Given the description of an element on the screen output the (x, y) to click on. 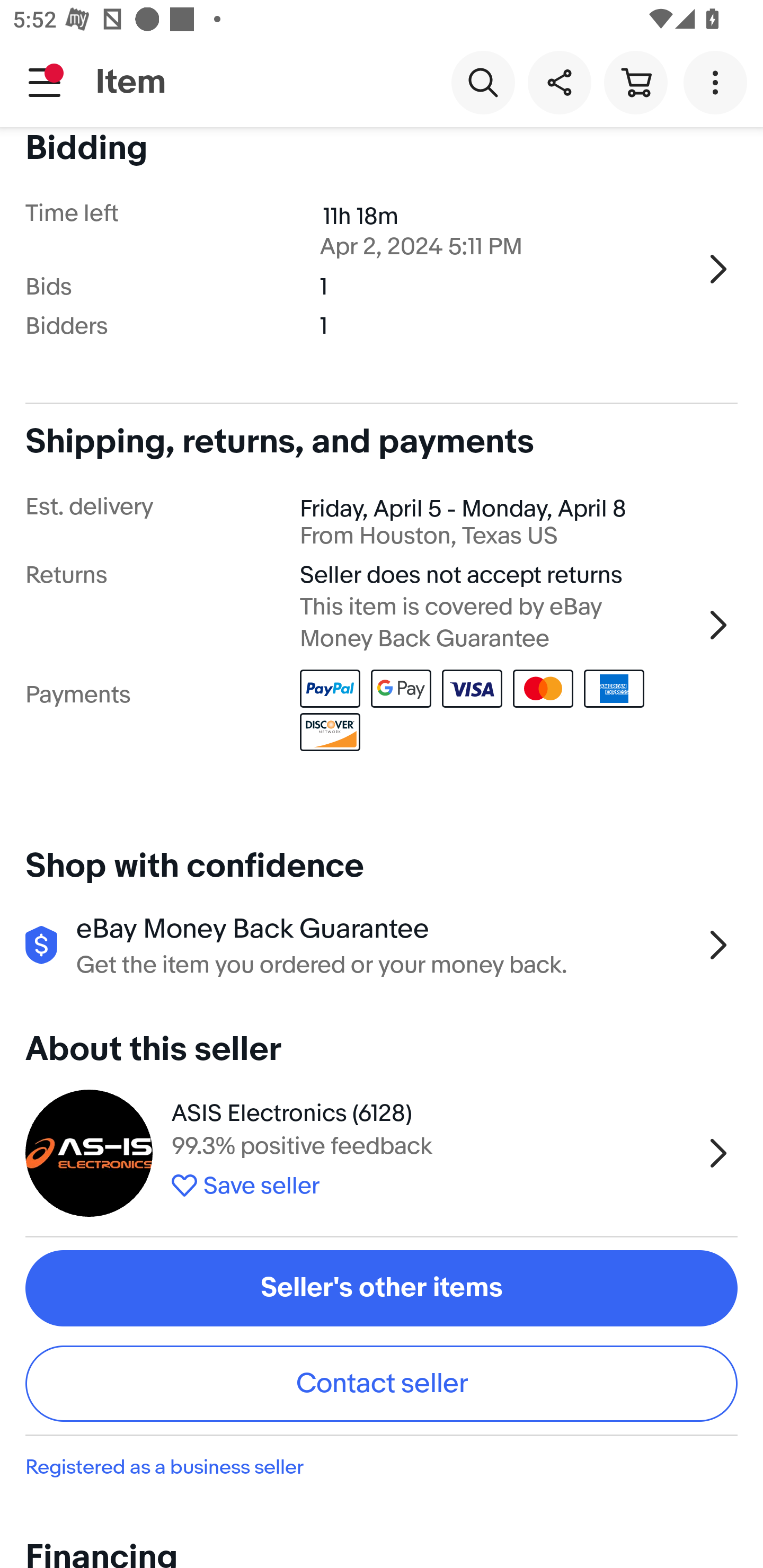
Main navigation, notification is pending, open (44, 82)
Search (482, 81)
Share this item (559, 81)
Cart button shopping cart (635, 81)
More options (718, 81)
Save seller (431, 1181)
Seller's other items (381, 1287)
Contact seller (381, 1383)
Registered as a business seller (381, 1467)
